Given the description of an element on the screen output the (x, y) to click on. 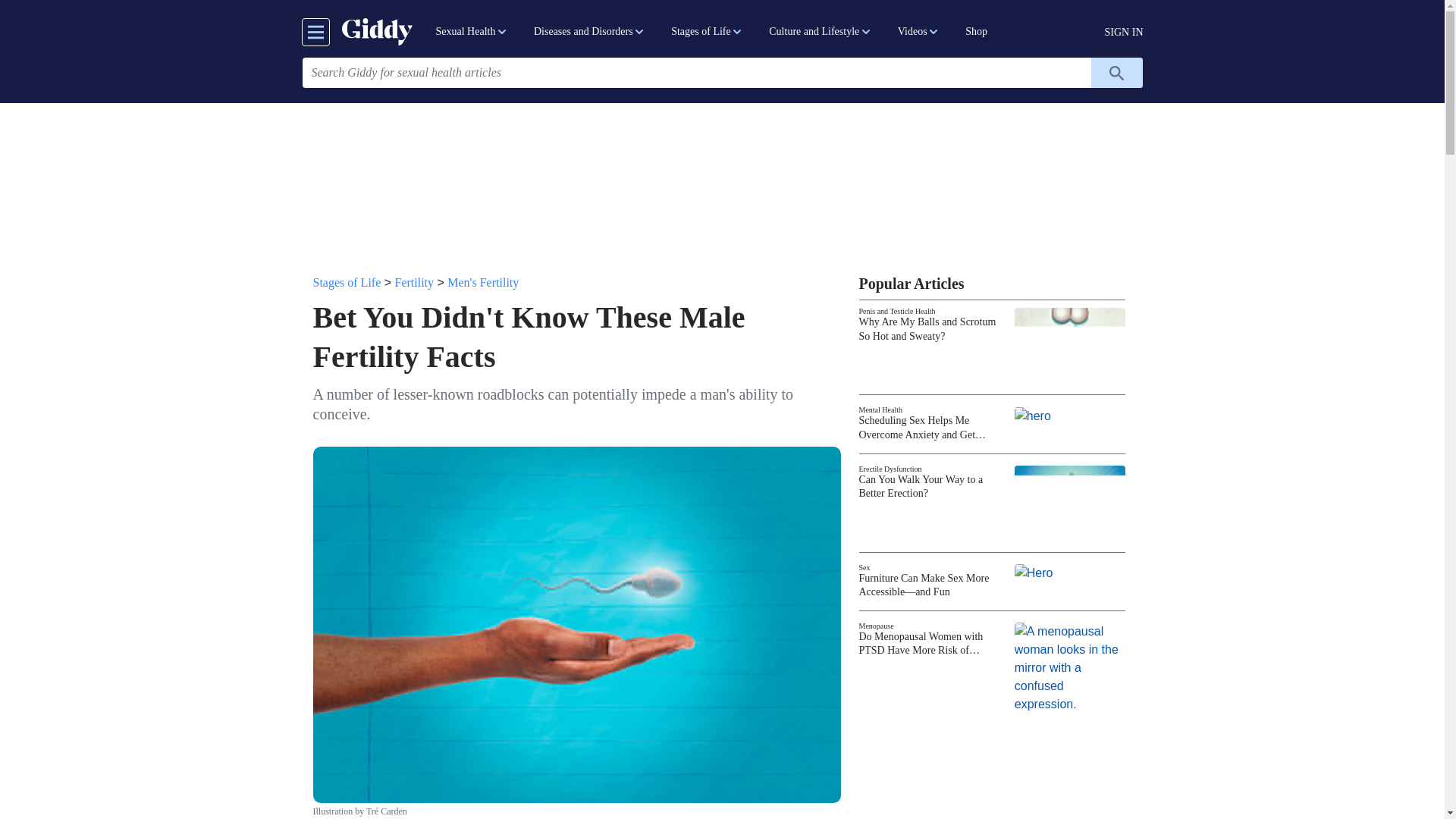
My Account (1123, 31)
Home (376, 31)
Sexual Health (472, 31)
